Given the description of an element on the screen output the (x, y) to click on. 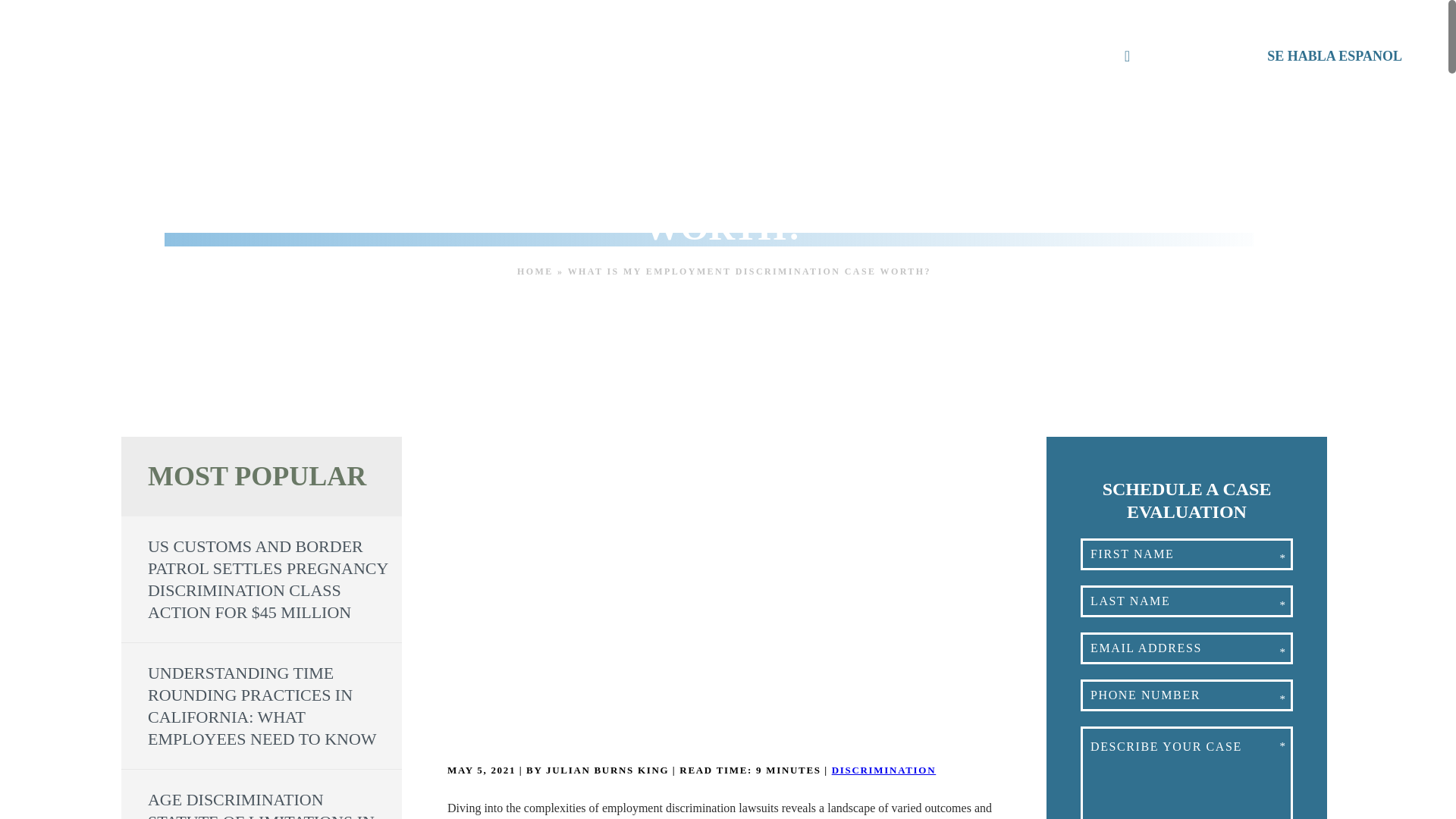
EMPLOYMENT LAW (479, 55)
ABOUT US (360, 55)
Discrimination (883, 769)
